Given the description of an element on the screen output the (x, y) to click on. 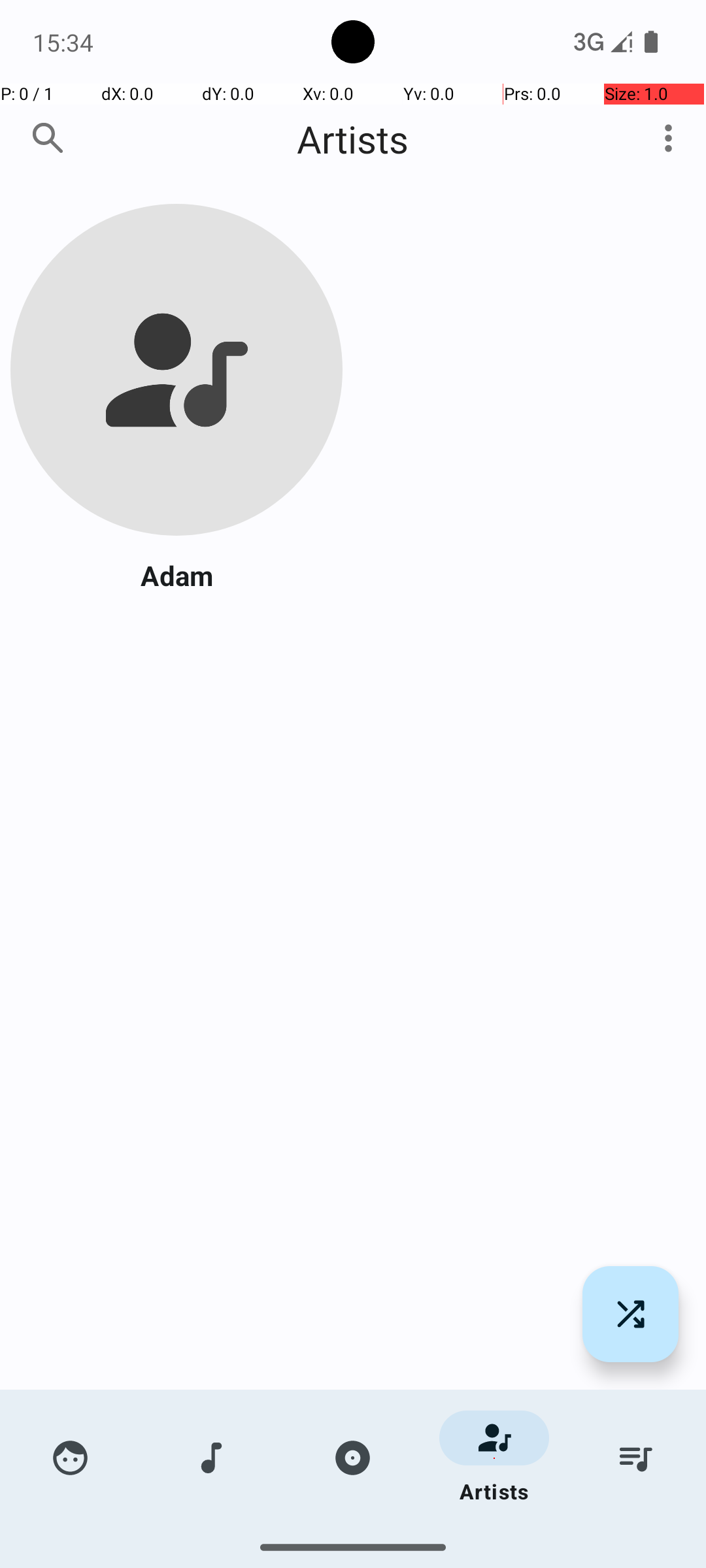
Adam Element type: android.widget.TextView (176, 574)
